Given the description of an element on the screen output the (x, y) to click on. 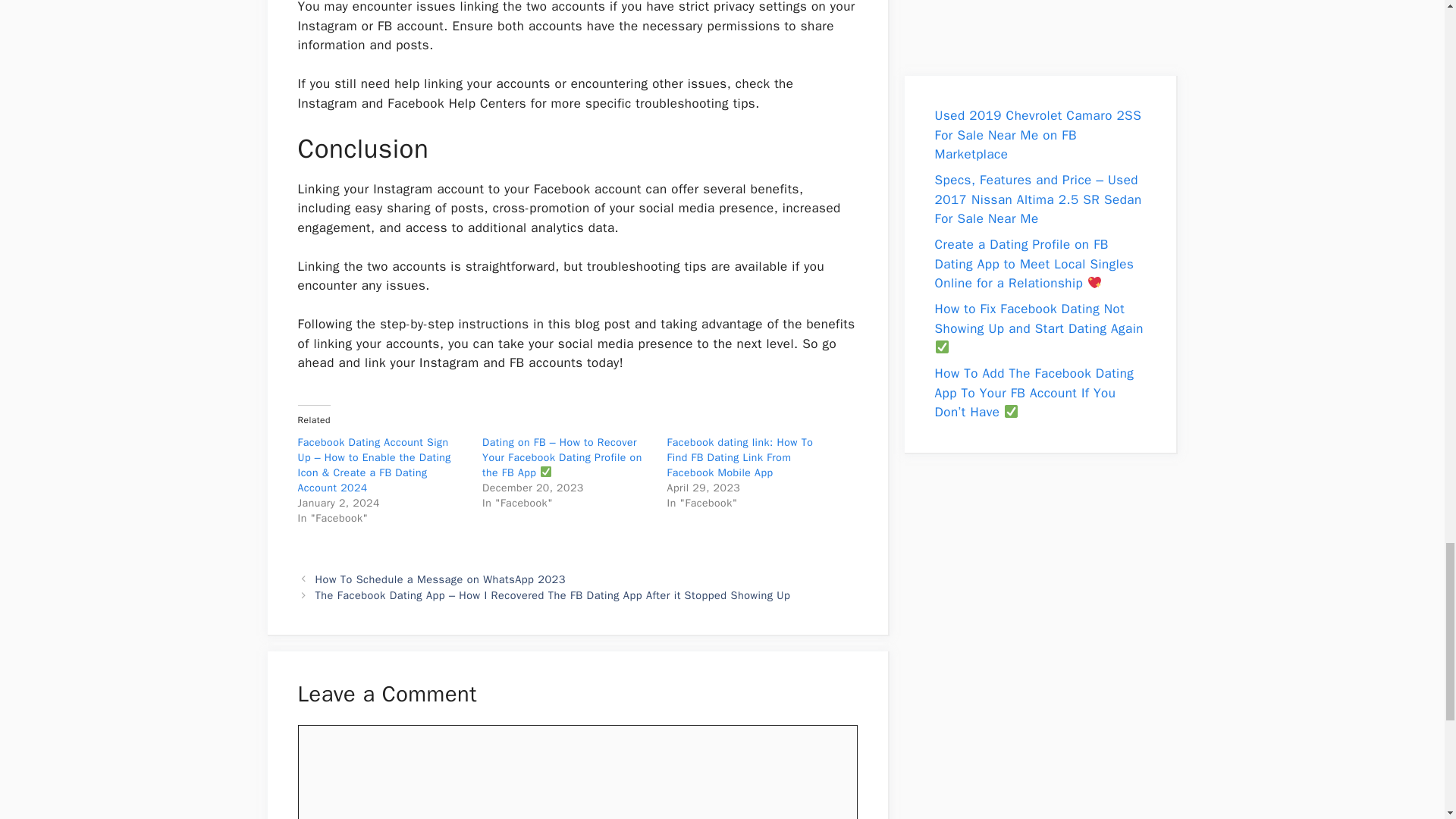
How To Schedule a Message on WhatsApp 2023 (440, 579)
